Given the description of an element on the screen output the (x, y) to click on. 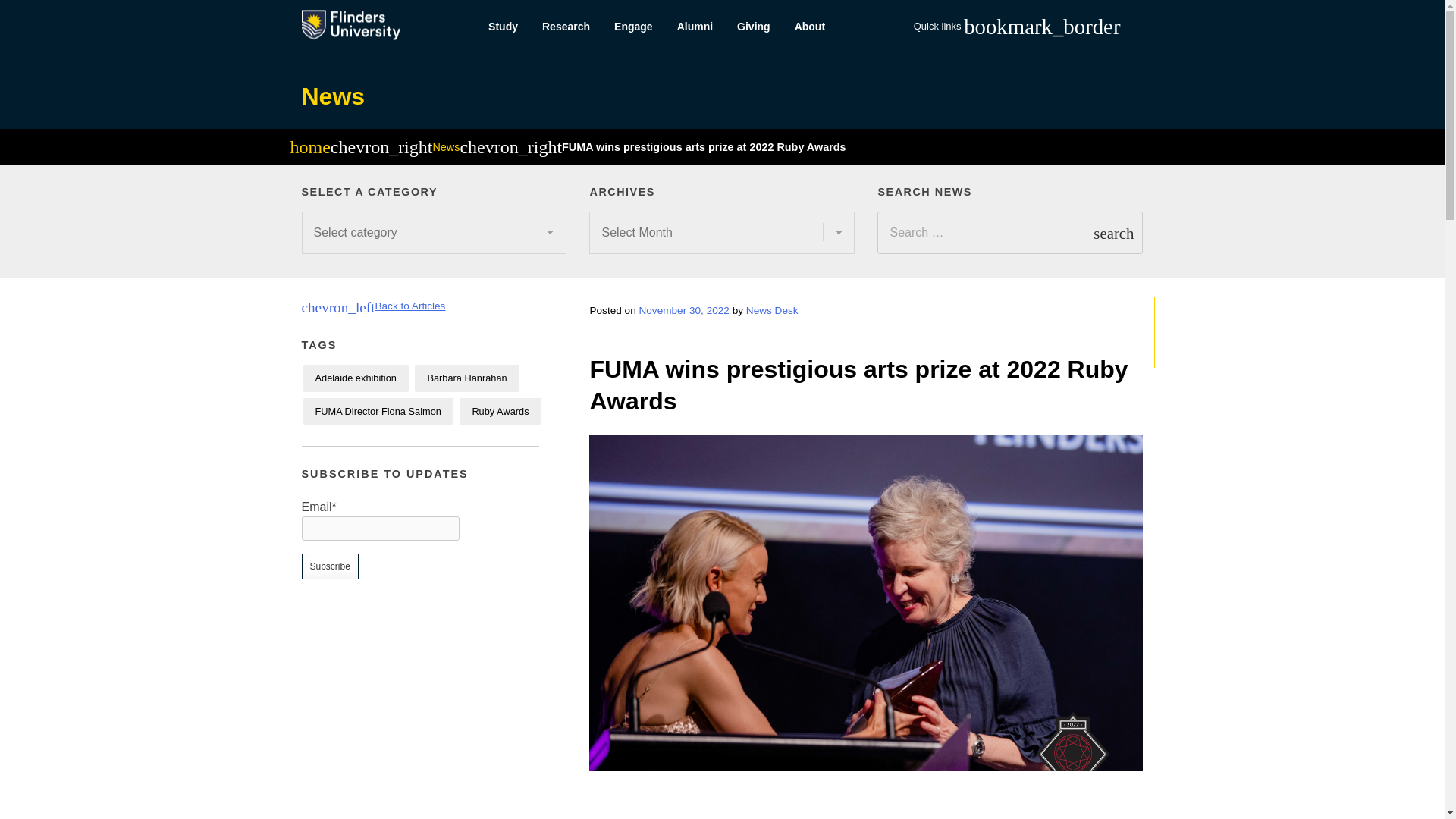
About (810, 26)
Subscribe (329, 566)
home (309, 149)
Study (502, 26)
Engage (633, 26)
Barbara Hanrahan (466, 377)
November 30, 2022 (684, 310)
Giving (754, 26)
Adelaide exhibition (355, 377)
News (446, 146)
